Given the description of an element on the screen output the (x, y) to click on. 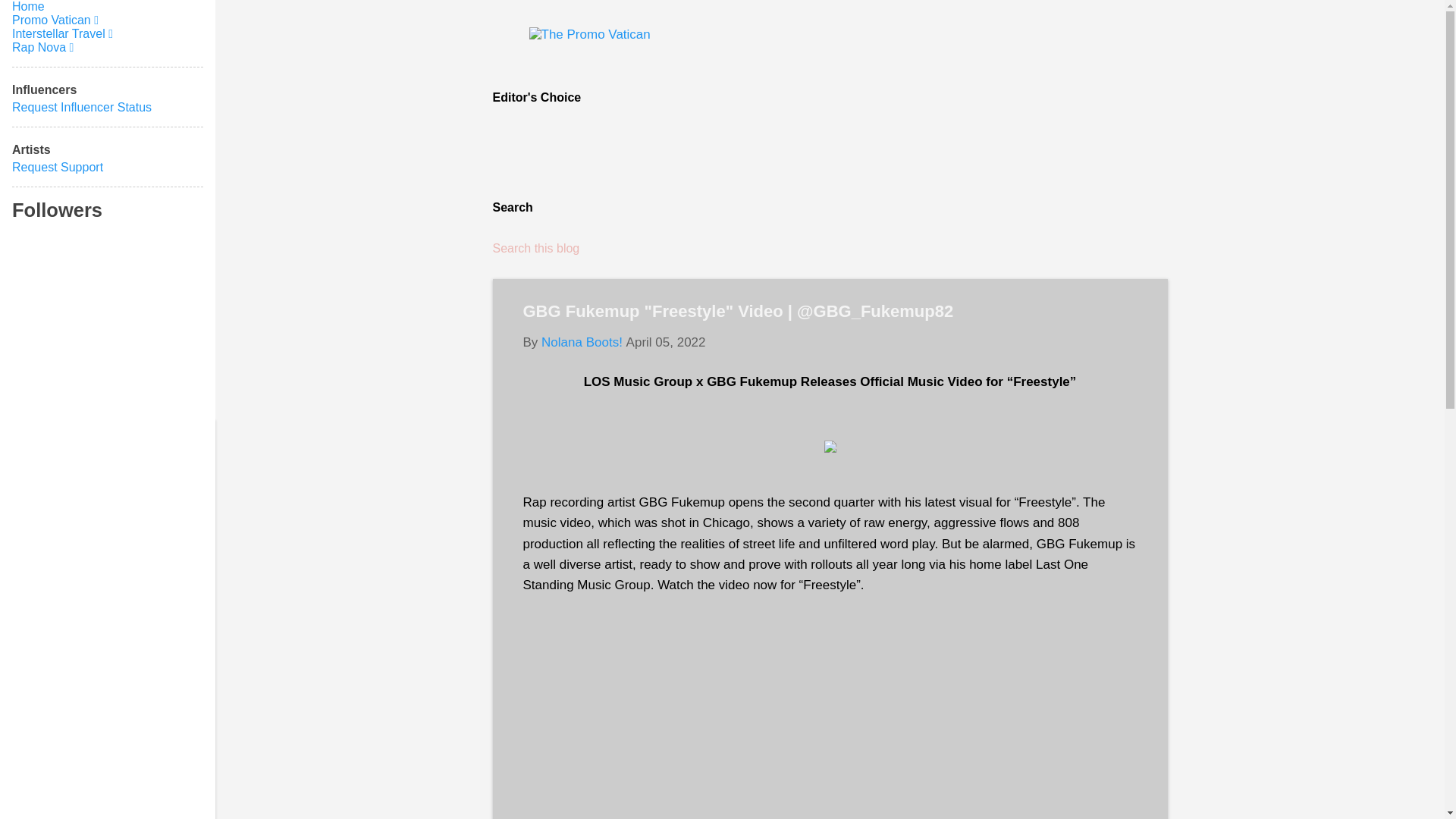
April 05, 2022 (666, 341)
Request Influencer Status (81, 106)
permanent link (666, 341)
Home (28, 6)
Request Support (57, 166)
Search (33, 18)
author profile (582, 341)
Nolana Boots! (582, 341)
YouTube video player (829, 713)
